Given the description of an element on the screen output the (x, y) to click on. 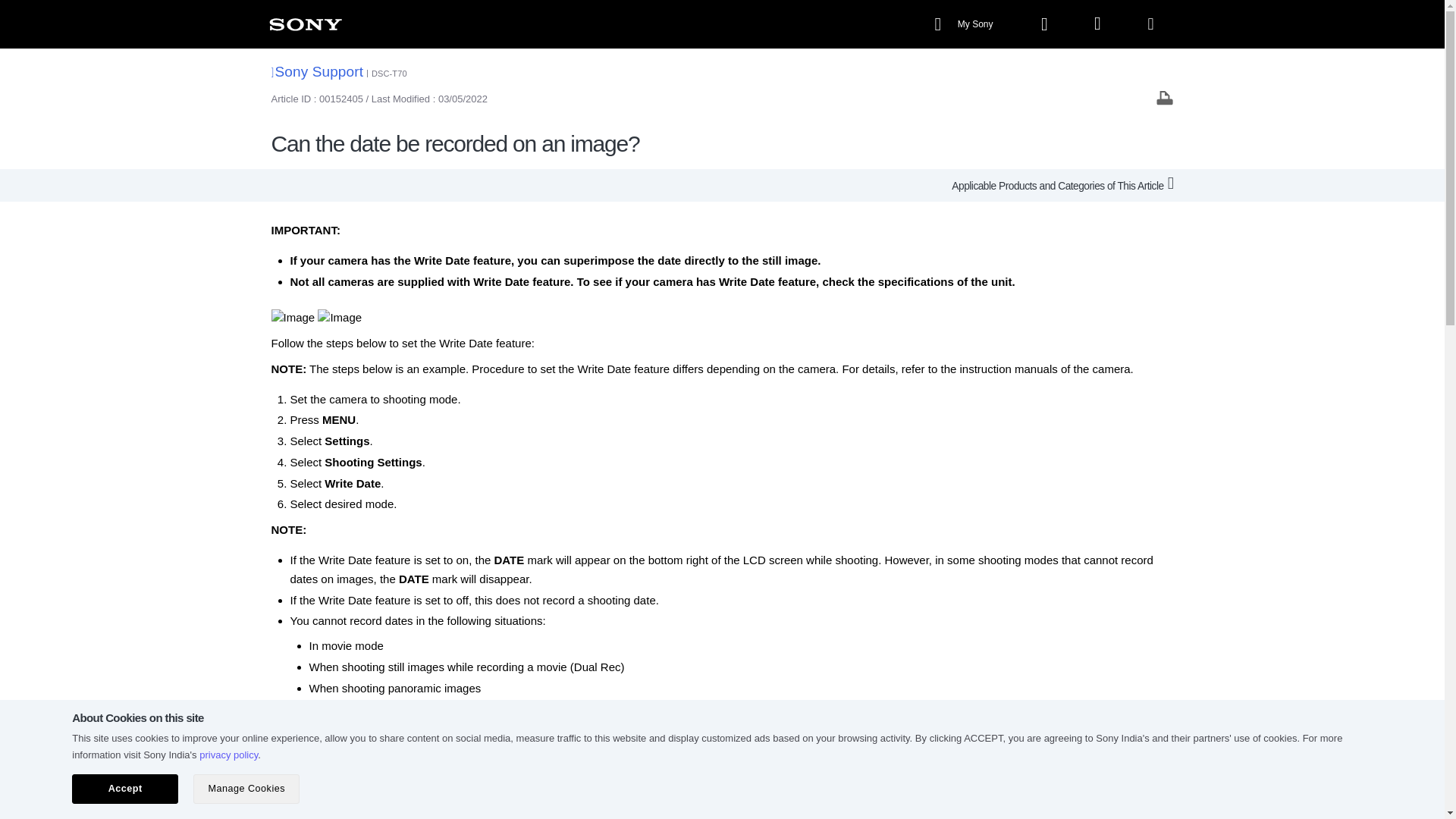
Print (1164, 97)
My Sony (964, 24)
Contact Us (710, 799)
